Given the description of an element on the screen output the (x, y) to click on. 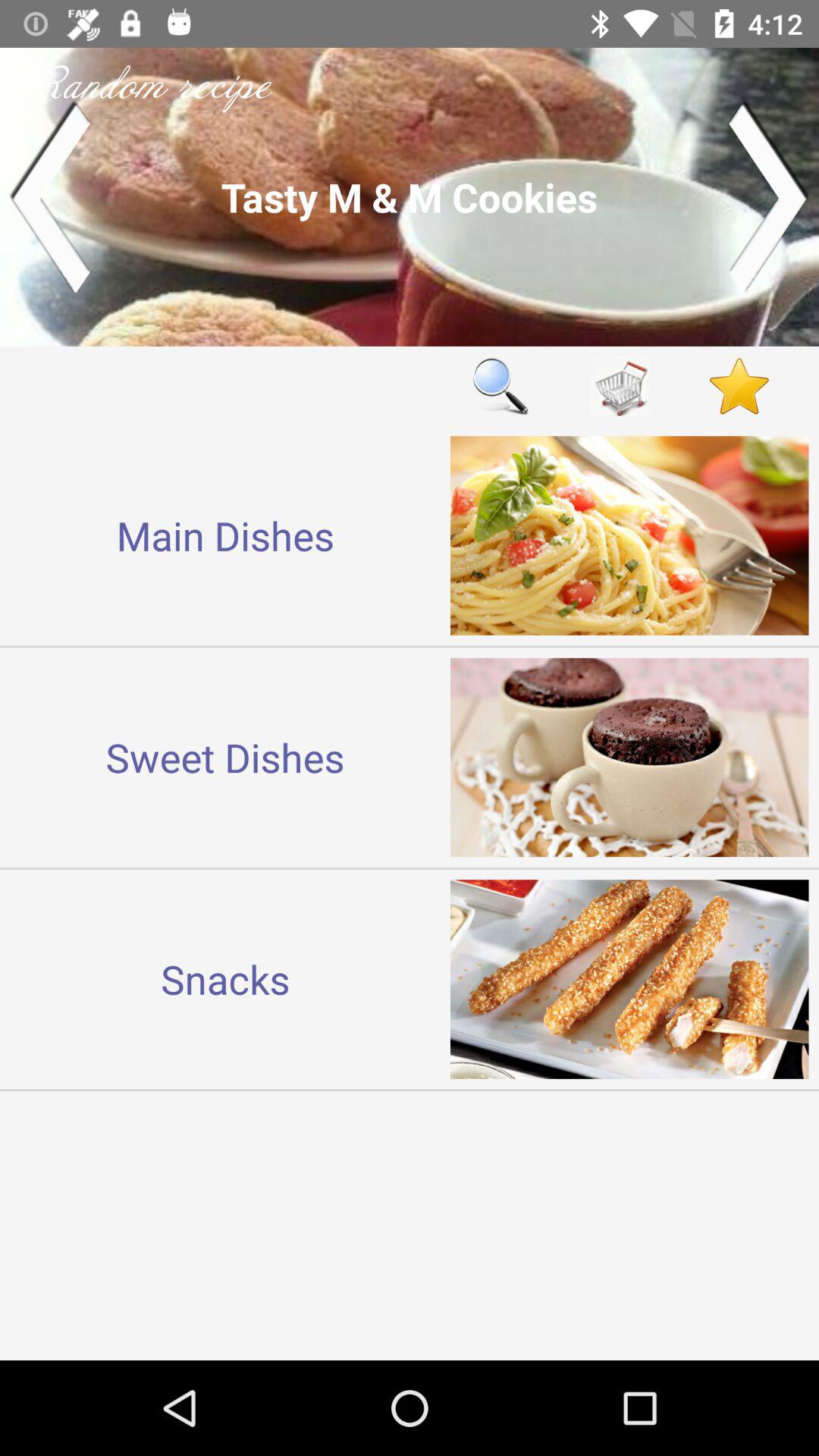
select icon next to main dishes icon (500, 385)
